Given the description of an element on the screen output the (x, y) to click on. 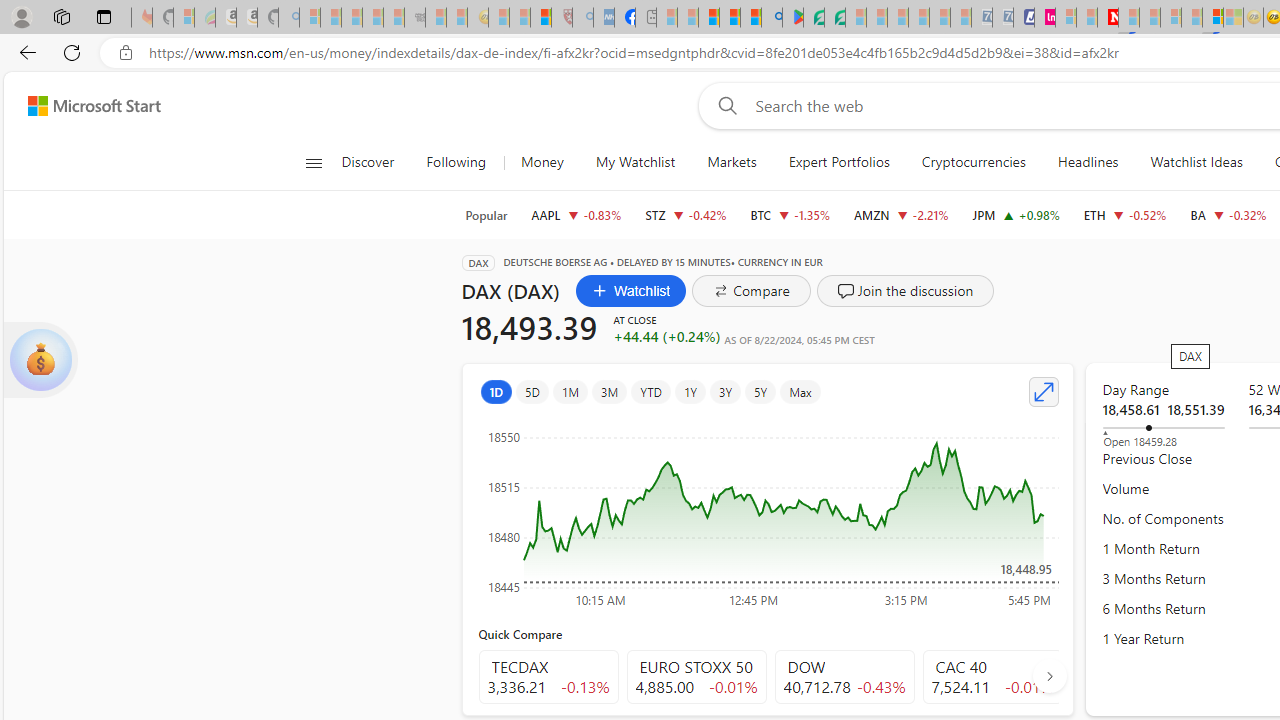
show card (40, 359)
Latest Politics News & Archive | Newsweek.com (1107, 17)
1D (496, 391)
5Y (760, 391)
